Given the description of an element on the screen output the (x, y) to click on. 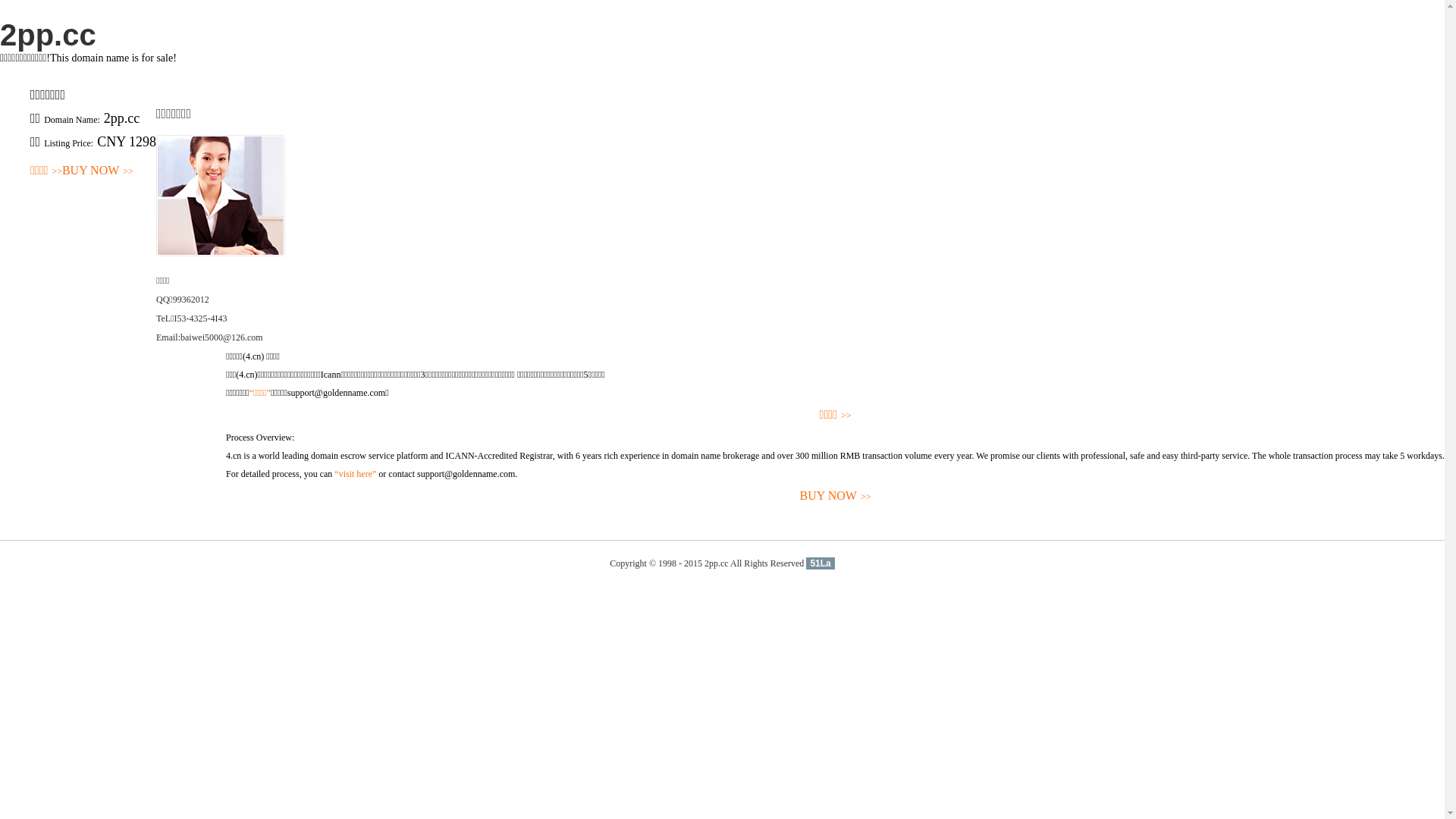
51La Element type: text (820, 563)
BUY NOW>> Element type: text (834, 496)
BUY NOW>> Element type: text (97, 170)
